Given the description of an element on the screen output the (x, y) to click on. 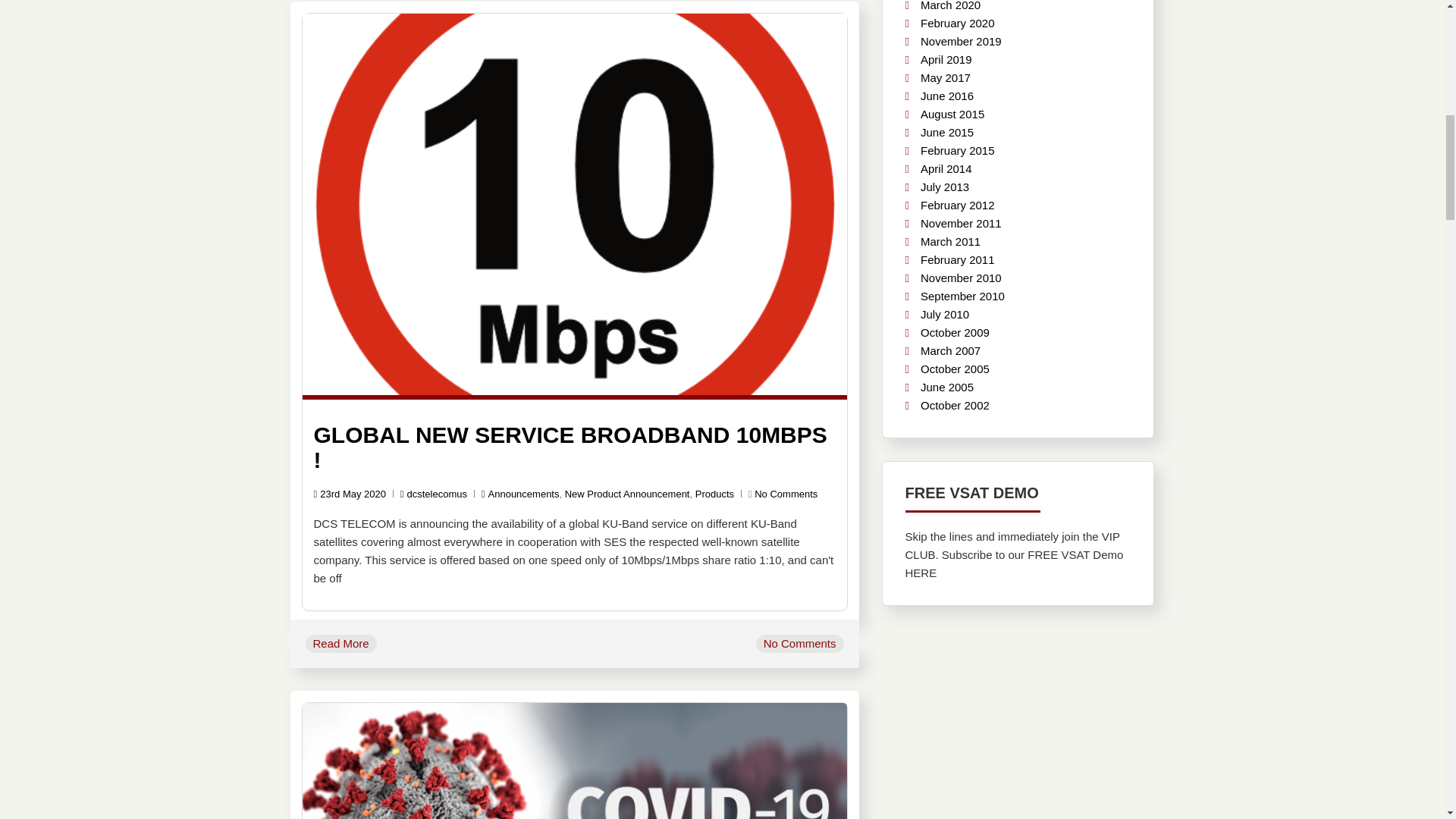
GLOBAL NEW SERVICE BROADBAND 10MBPS ! (570, 447)
